Given the description of an element on the screen output the (x, y) to click on. 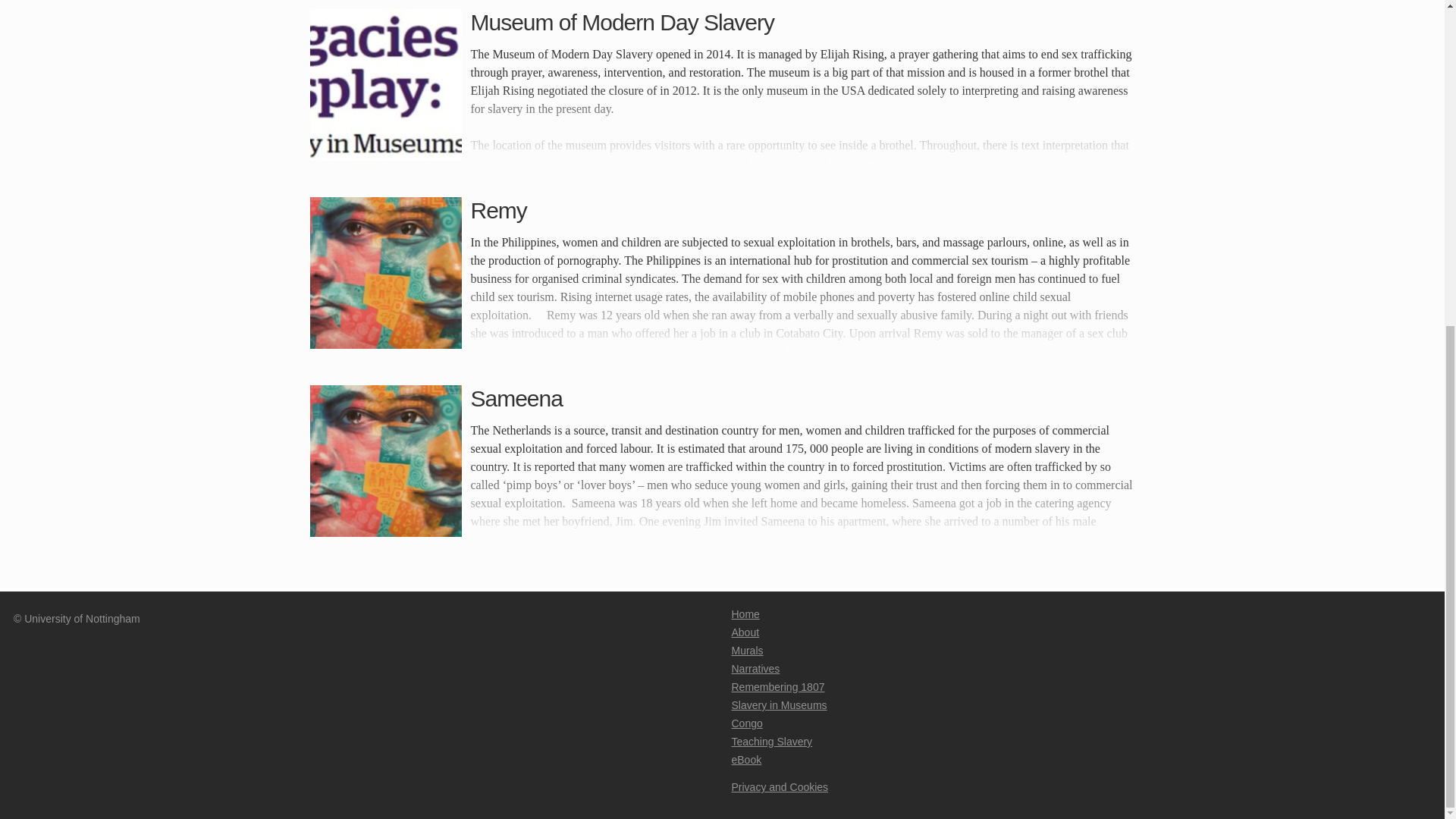
Slavery in Museums (778, 705)
About (744, 632)
LOGO.jpg (384, 84)
Congo (745, 723)
Privacy and Cookies (779, 787)
Remembering 1807 (777, 686)
Narratives (754, 668)
Teaching Slavery (771, 741)
narrative image.png (384, 272)
Murals (746, 650)
eBook (745, 759)
narrative image.png (384, 460)
Home (744, 613)
